Given the description of an element on the screen output the (x, y) to click on. 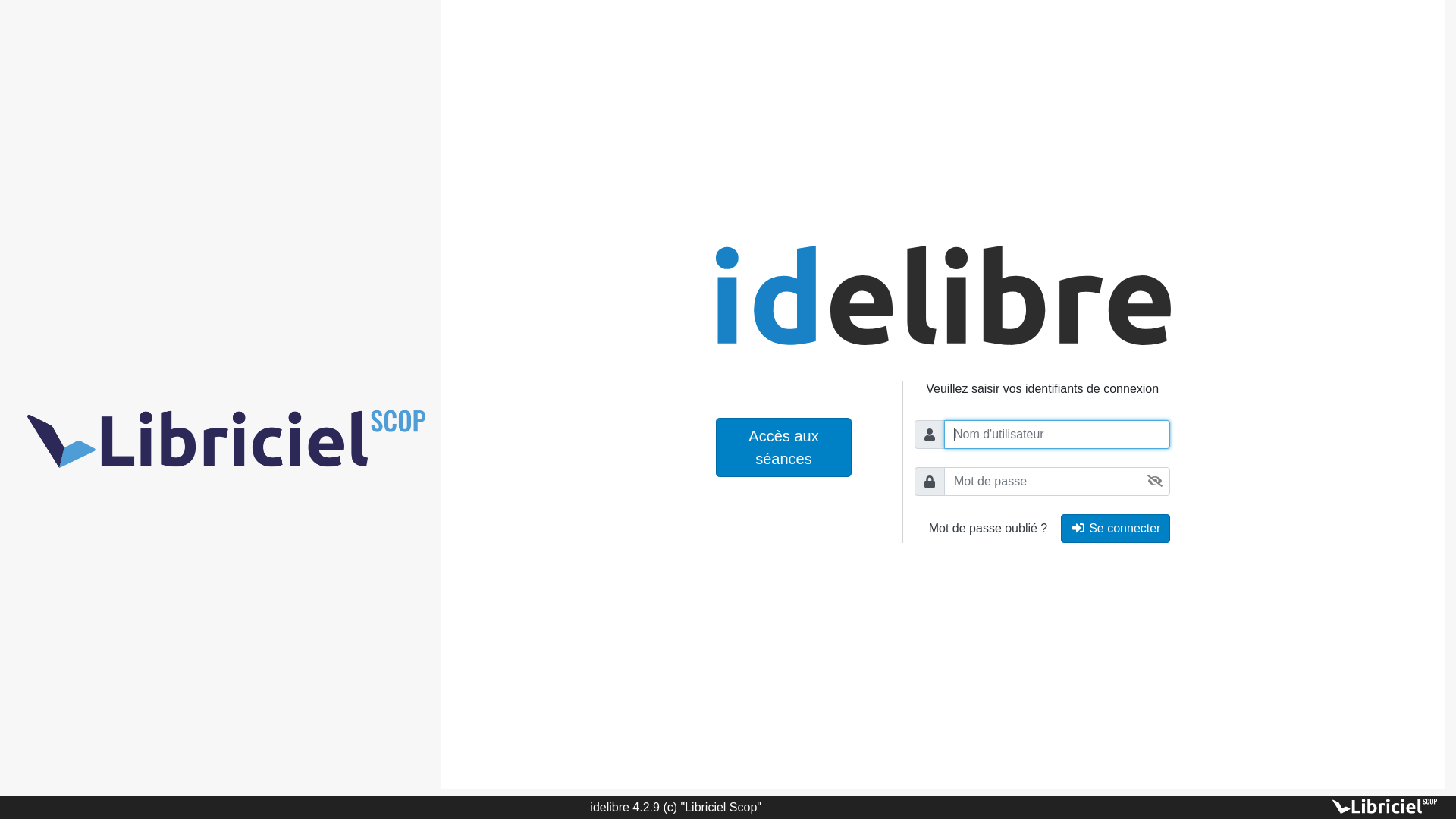
Se connecter Element type: text (1115, 528)
